Given the description of an element on the screen output the (x, y) to click on. 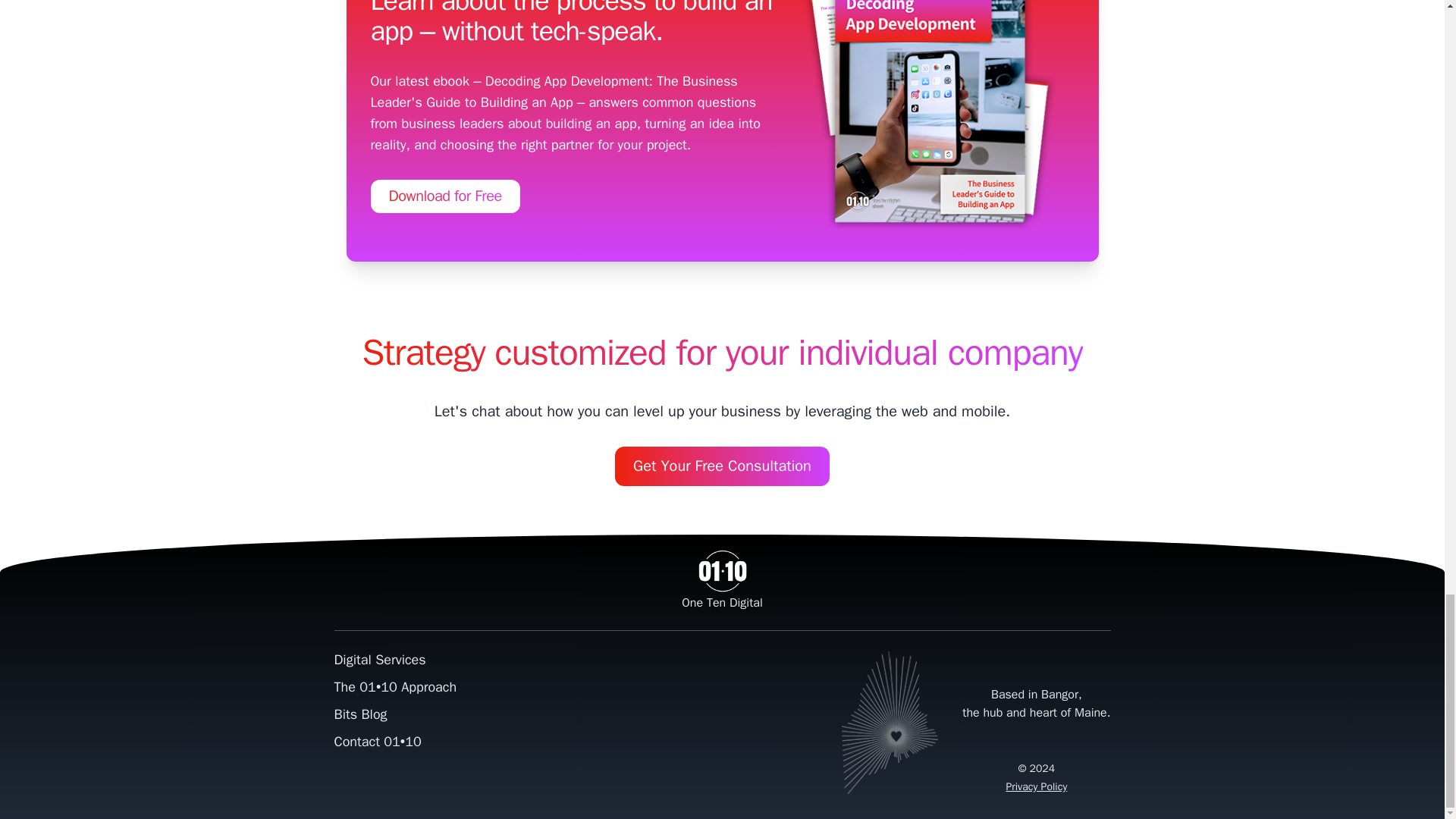
Download for Free (444, 195)
Get Your Free Consultation (721, 466)
Privacy Policy (1036, 786)
Digital Services (379, 659)
Bits Blog (360, 713)
One Ten Digital (721, 589)
